Given the description of an element on the screen output the (x, y) to click on. 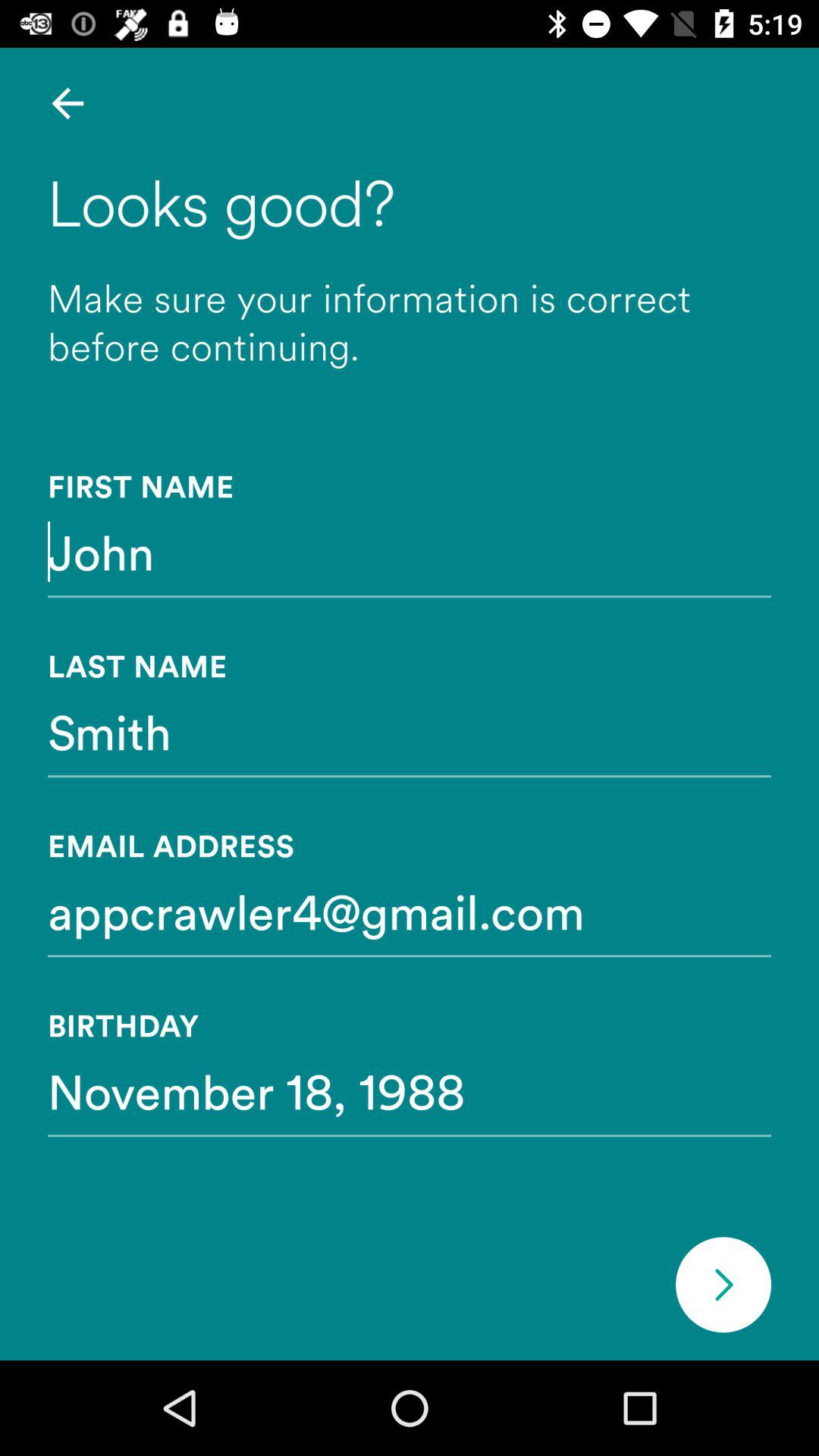
swipe until john item (409, 551)
